Given the description of an element on the screen output the (x, y) to click on. 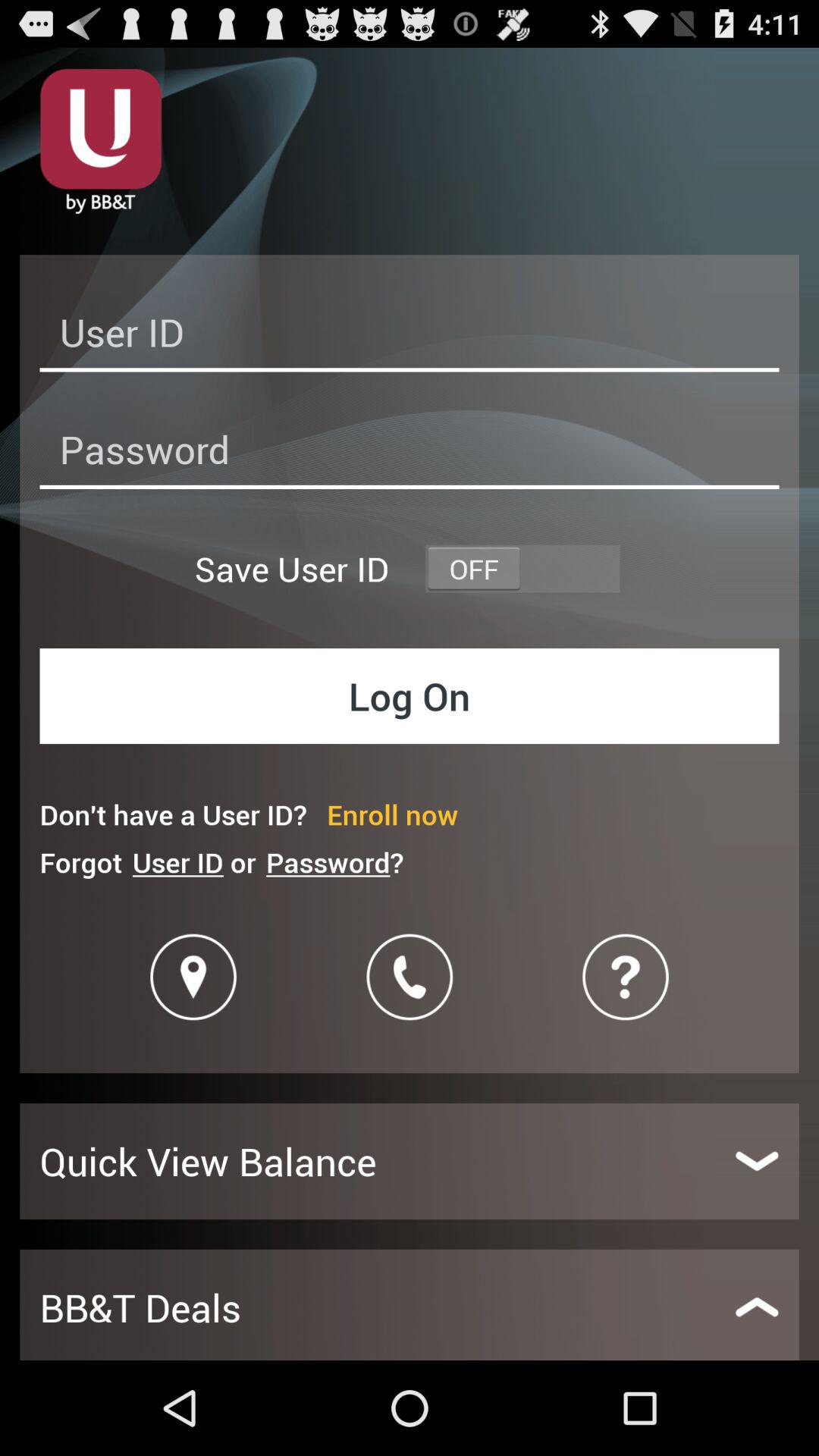
choose the icon above password? icon (392, 814)
